Given the description of an element on the screen output the (x, y) to click on. 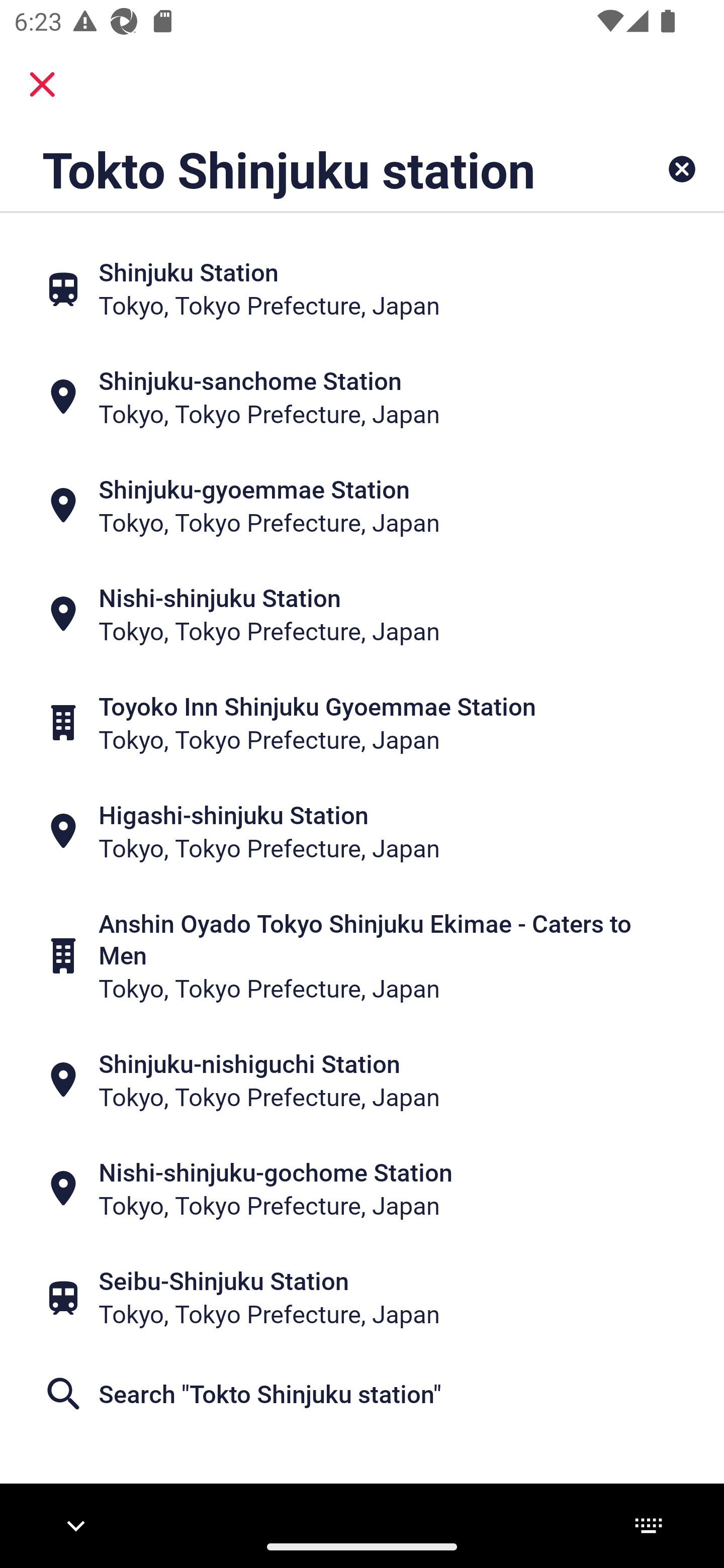
close. (42, 84)
Clear (681, 169)
Tokto Shinjuku station (298, 169)
Shinjuku Station Tokyo, Tokyo Prefecture, Japan (362, 288)
Search "Tokto Shinjuku station" (362, 1393)
